Given the description of an element on the screen output the (x, y) to click on. 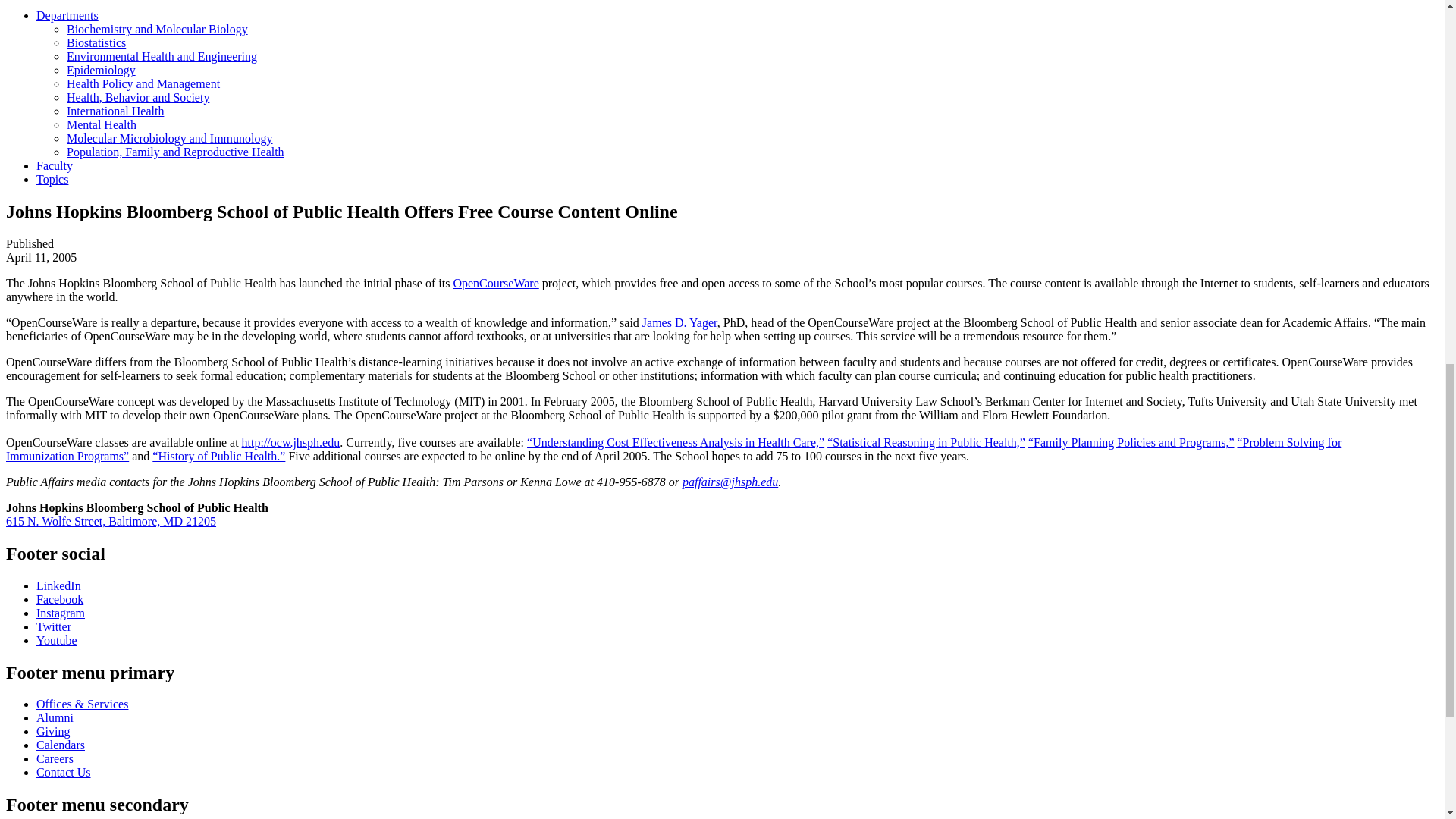
Job Opportunities and Career Resources (55, 758)
OpenCourceWare (495, 282)
James Yager (679, 322)
History of Public Health (218, 455)
Family Planning Policies and Programs (1130, 441)
Understanding Cost Effectiveness Analysis in Health Care (675, 441)
Statistical Reasoning in Public Health (926, 441)
Problem Solving for Immunization Programs (672, 448)
